Given the description of an element on the screen output the (x, y) to click on. 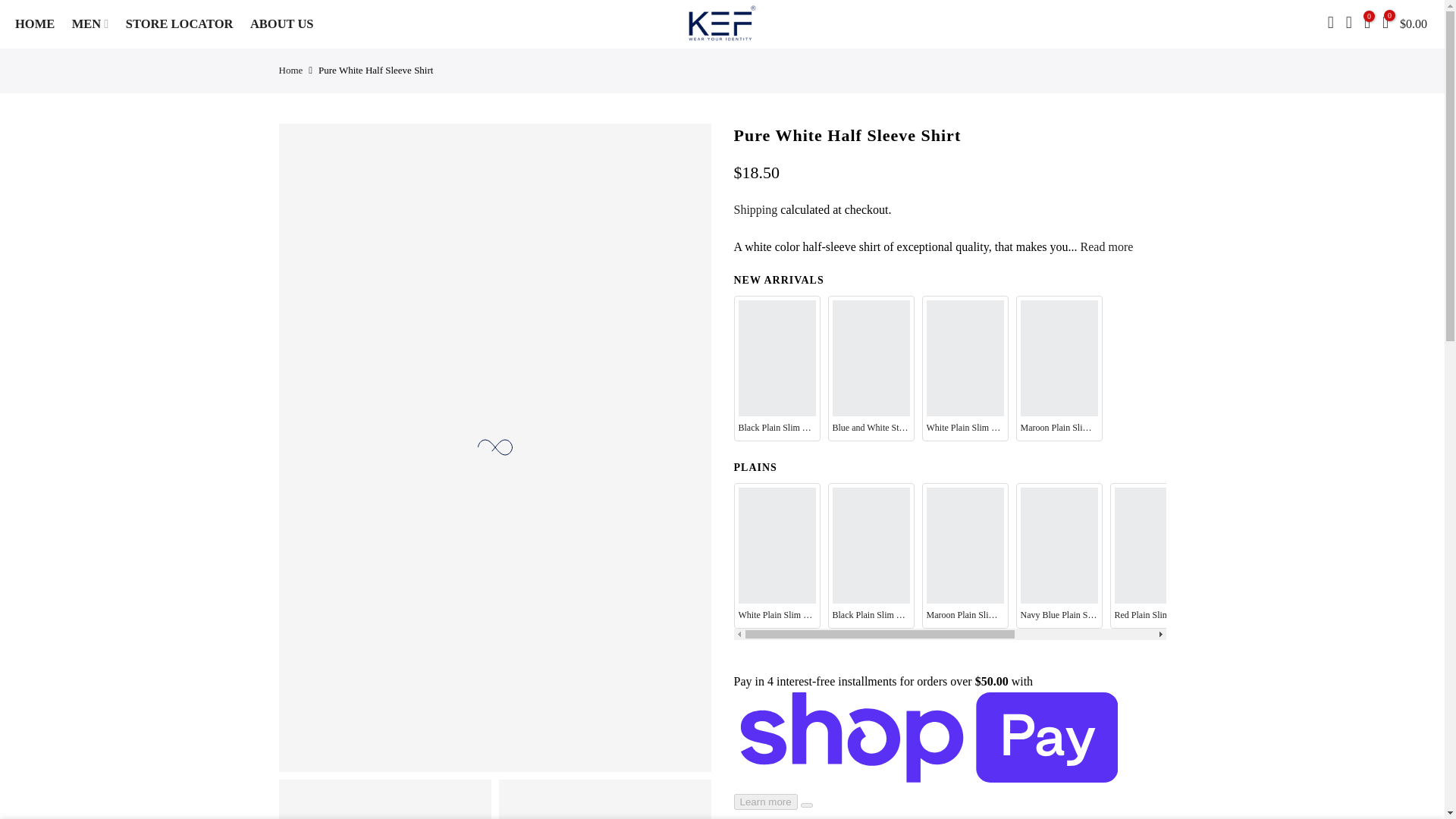
HOME (39, 23)
Home (290, 69)
Read more (1105, 246)
Shipping (755, 209)
STORE LOCATOR (184, 23)
MEN (95, 23)
ABOUT US (286, 23)
